Given the description of an element on the screen output the (x, y) to click on. 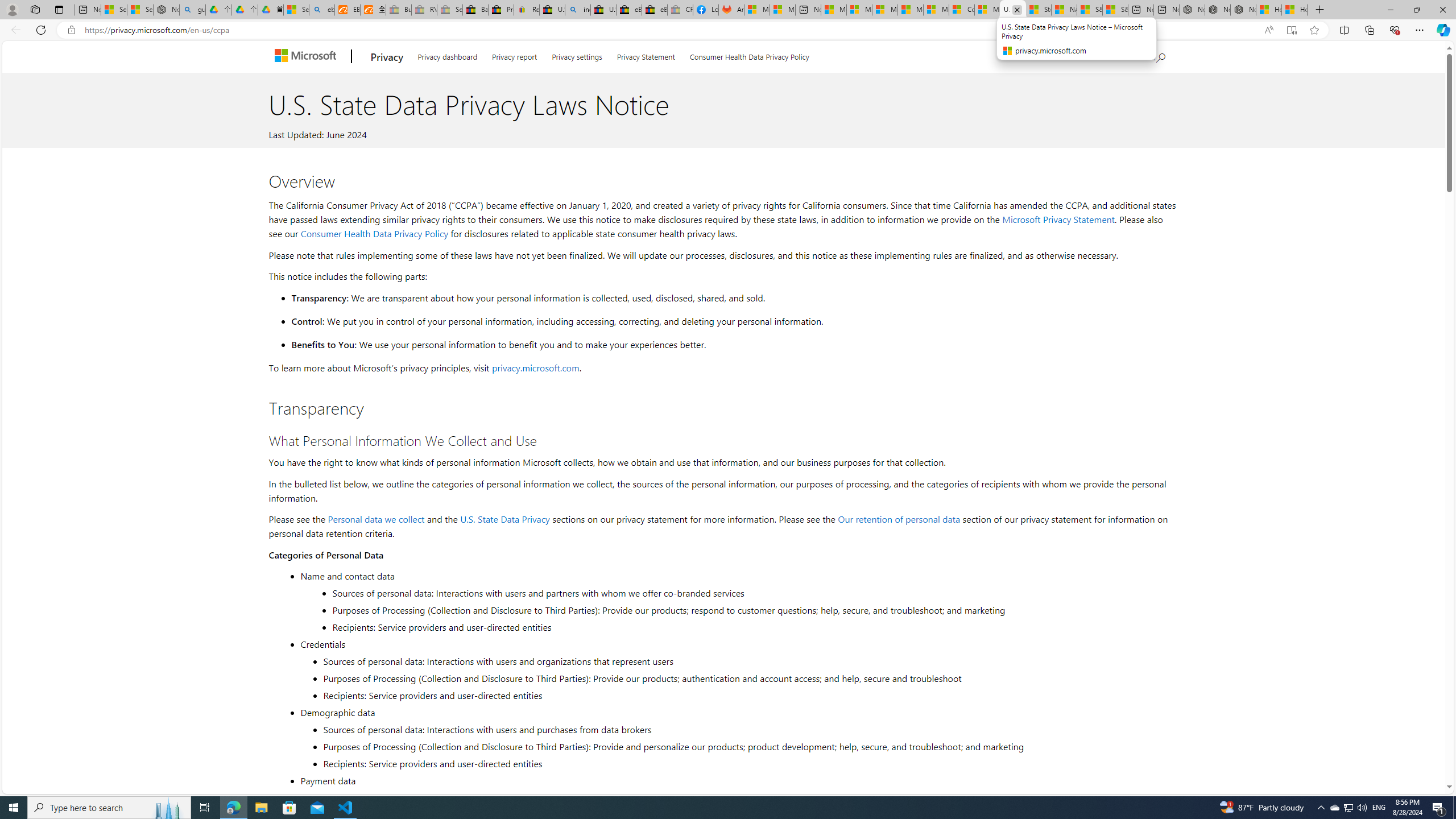
Consumer Health Data Privacy Policy (748, 54)
Buy Auto Parts & Accessories | eBay - Sleeping (398, 9)
guge yunpan - Search (192, 9)
Consumer Health Data Privacy Policy (961, 9)
Microsoft account | Home (884, 9)
including - Search (577, 9)
Privacy report (514, 54)
